Given the description of an element on the screen output the (x, y) to click on. 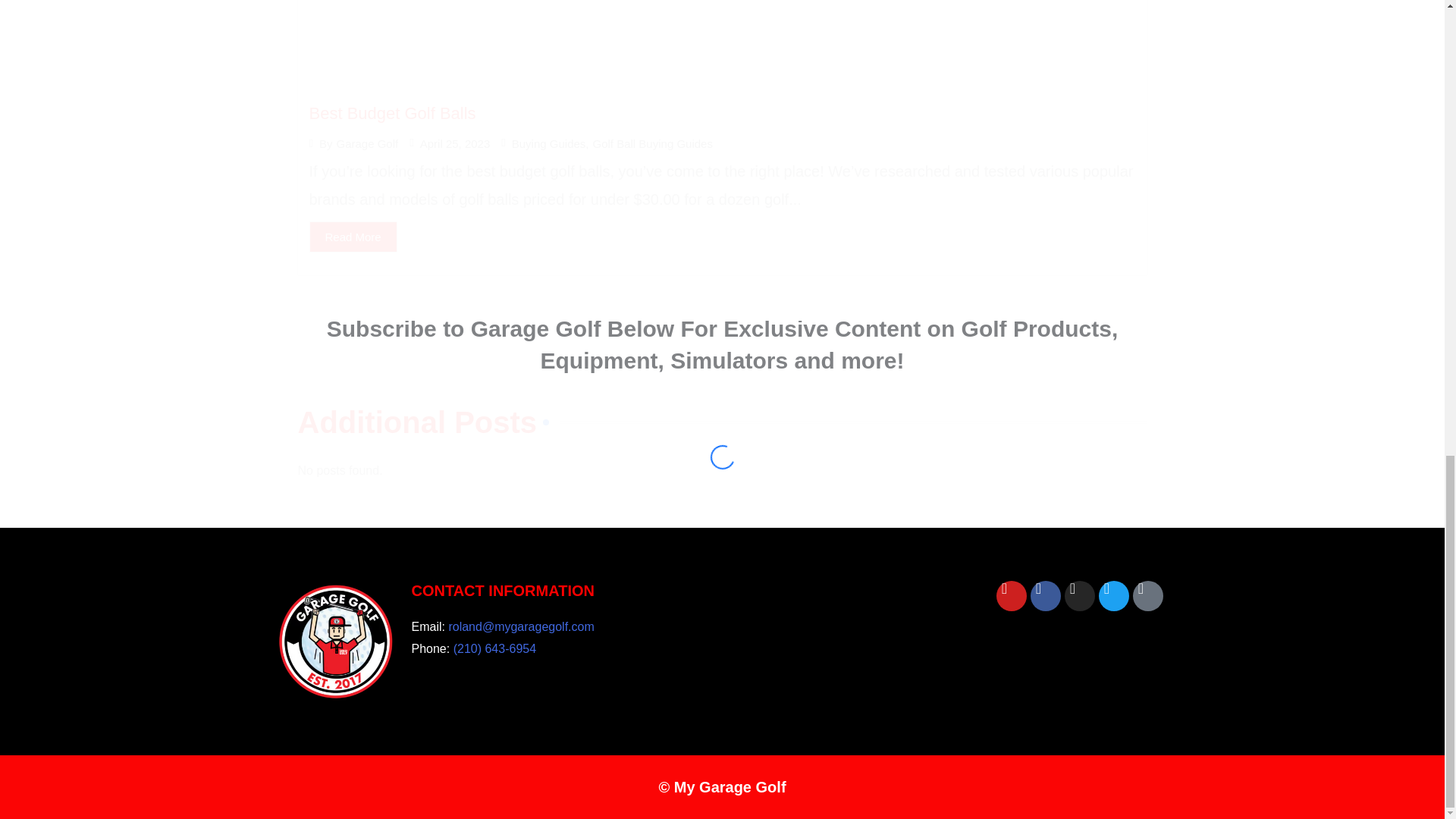
Garage Golf (367, 143)
Buying Guides (549, 143)
April 25, 2023 (455, 143)
Read More (352, 236)
Youtube (1010, 595)
Twitter (1114, 595)
Golf Ball Buying Guides (652, 143)
Best Budget Golf Balls (392, 113)
Instagram (1079, 595)
Tiktok (1147, 595)
